Given the description of an element on the screen output the (x, y) to click on. 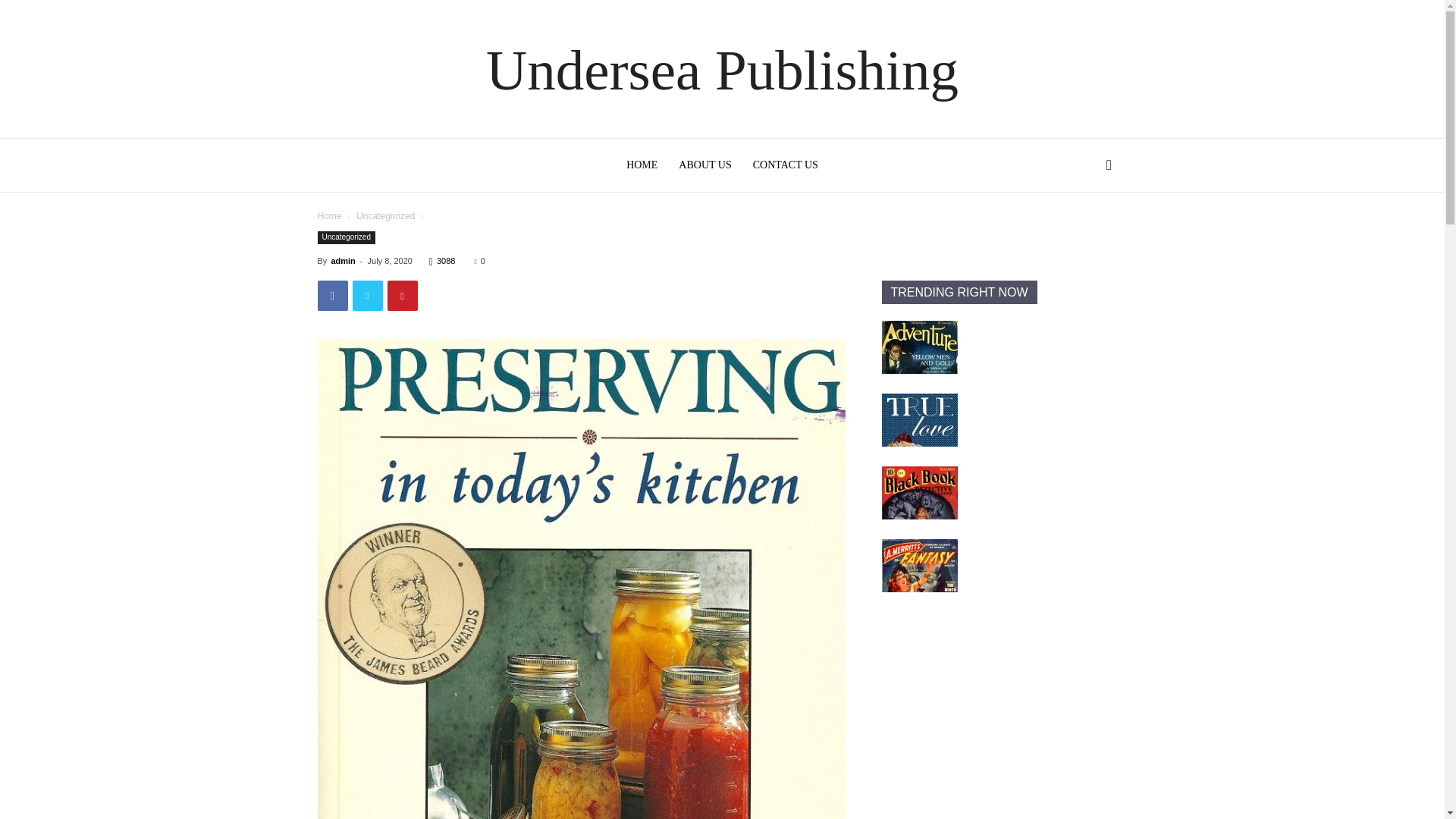
Search (1085, 233)
Home (328, 215)
admin (342, 260)
Undersea Publishing (722, 69)
View all posts in Uncategorized (385, 215)
0 (479, 260)
CONTACT US (785, 164)
Uncategorized (345, 237)
ABOUT US (704, 164)
HOME (641, 164)
Uncategorized (385, 215)
